Given the description of an element on the screen output the (x, y) to click on. 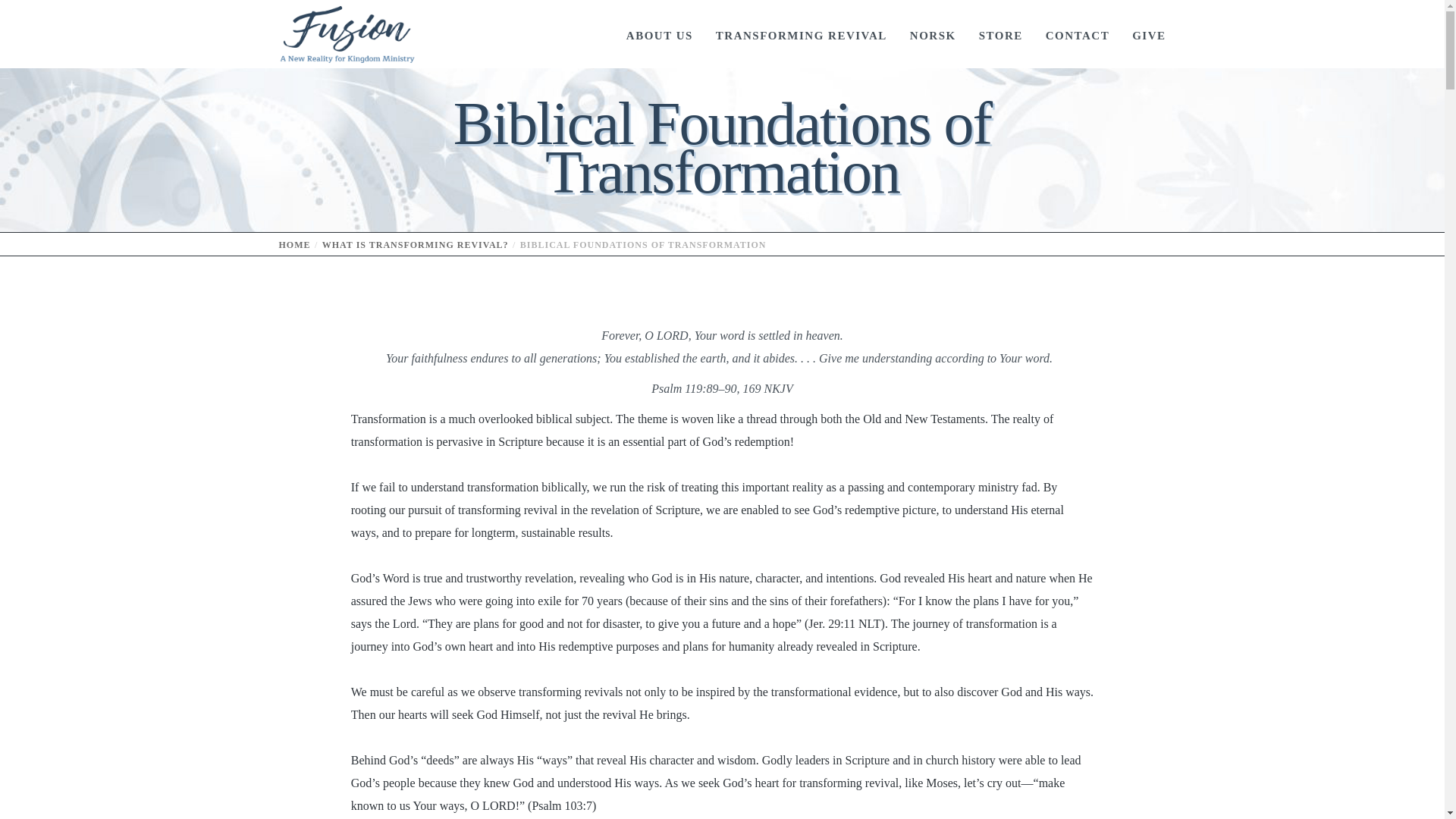
STORE (989, 33)
ABOUT US (648, 33)
WHAT IS TRANSFORMING REVIVAL? (414, 244)
HOME (295, 244)
TRANSFORMING REVIVAL (789, 33)
NORSK (921, 33)
CONTACT (1066, 33)
